Given the description of an element on the screen output the (x, y) to click on. 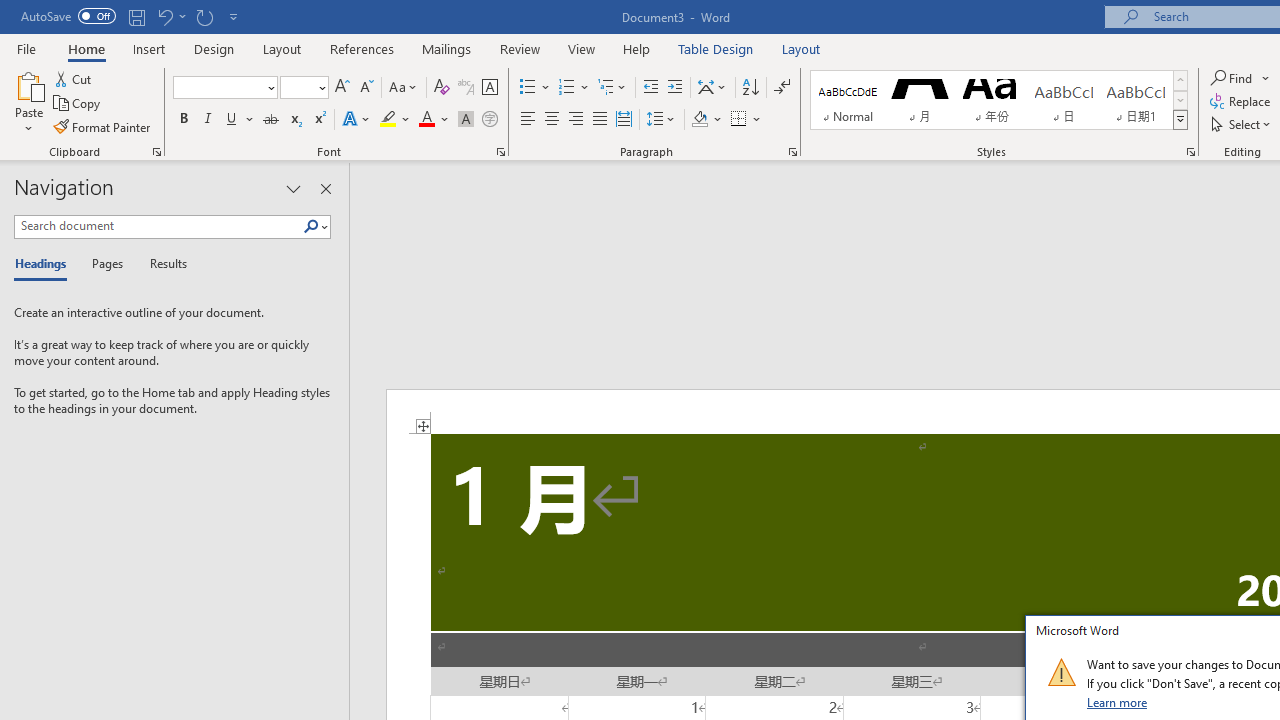
Select (1242, 124)
Increase Indent (675, 87)
Styles... (1190, 151)
Distributed (623, 119)
